Given the description of an element on the screen output the (x, y) to click on. 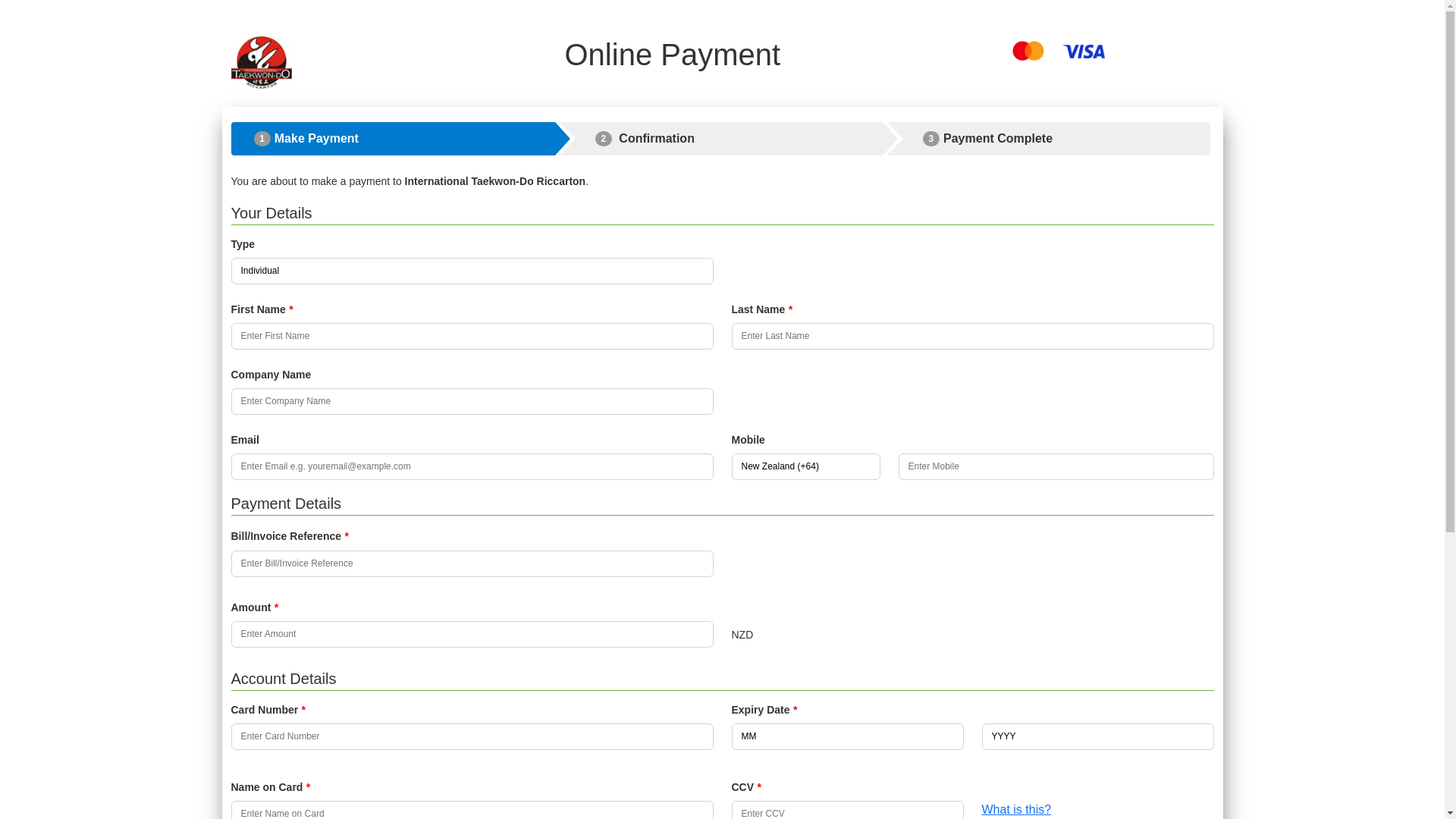
1Make Payment Element type: text (392, 138)
3Payment Complete Element type: text (1048, 138)
International Taekwon-Do Riccarton Element type: hover (260, 62)
Visa Logo Element type: hover (1083, 51)
2 Confirmation Element type: text (720, 138)
Mastercard Logo Element type: hover (1027, 50)
What is this? Element type: text (1016, 808)
